Given the description of an element on the screen output the (x, y) to click on. 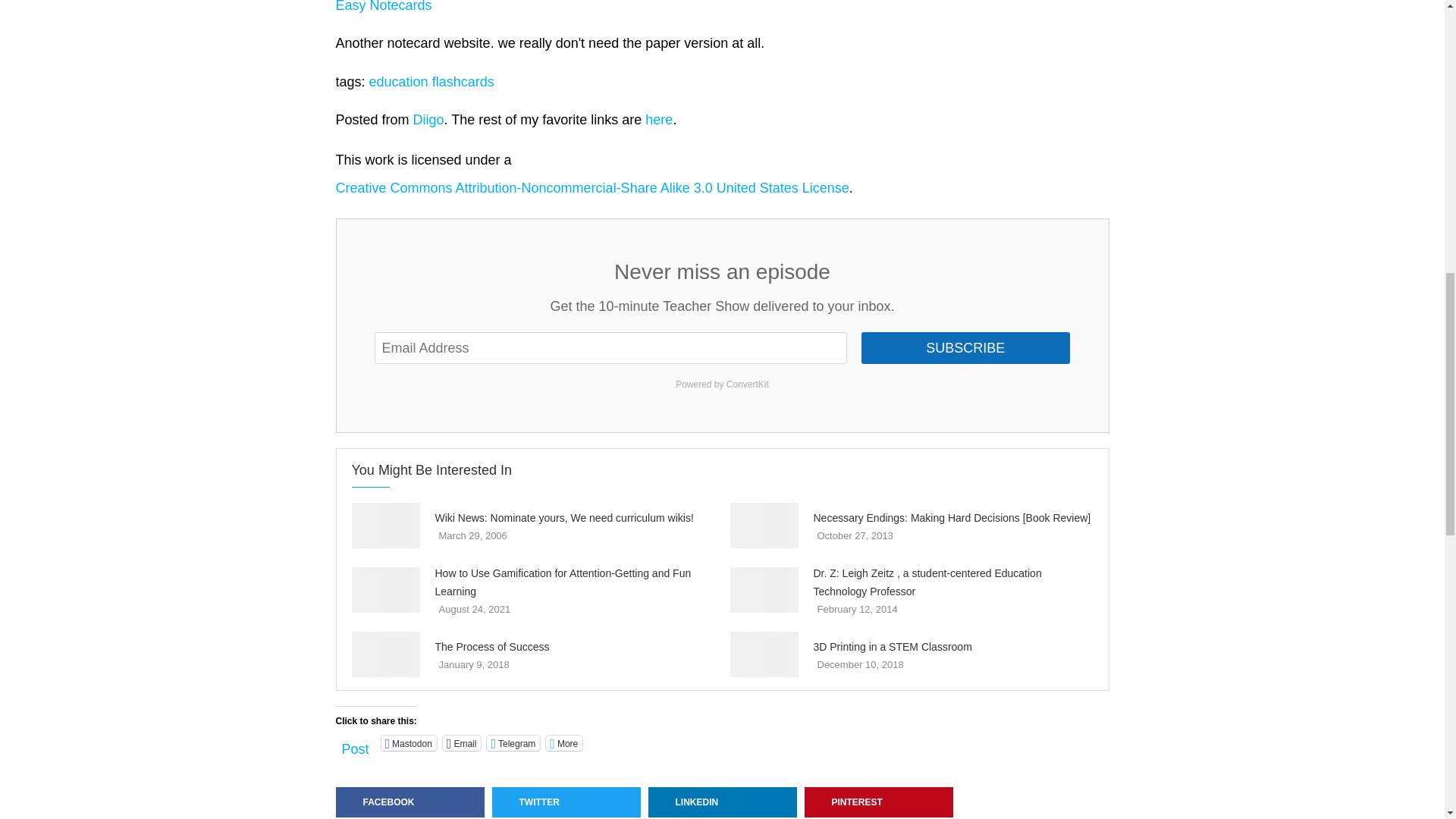
Click to email a link to a friend (461, 743)
Wiki News: Nominate yours, We need curriculum wikis! (386, 524)
The Process of Success (386, 654)
3D Printing in a STEM Classroom (763, 654)
Click to share on Telegram (513, 743)
Click to share on Mastodon (408, 743)
